Given the description of an element on the screen output the (x, y) to click on. 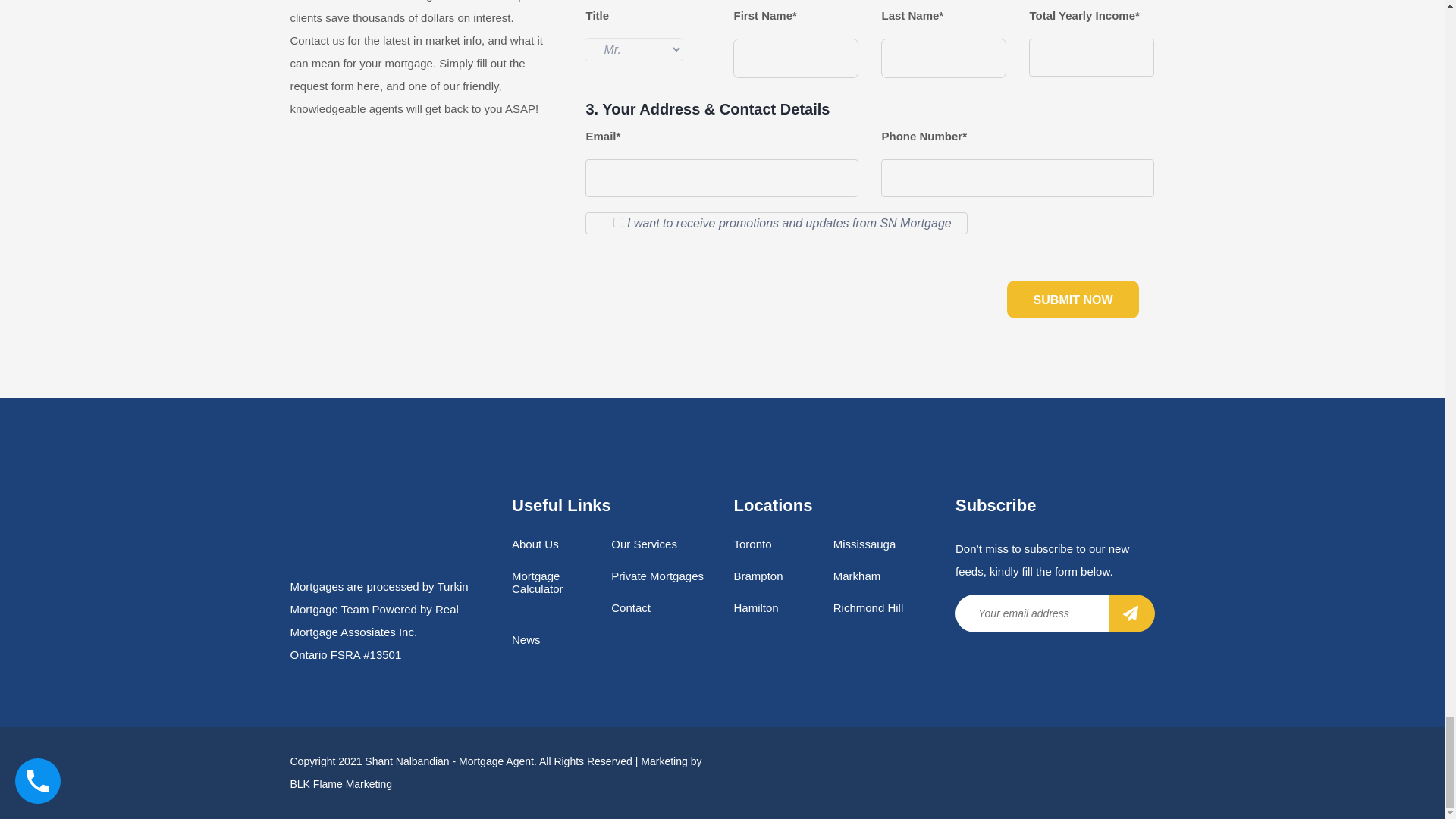
Sign up (1131, 613)
I want to receive promotions and updates from SN Mortgage (617, 222)
Submit now (1073, 299)
